Given the description of an element on the screen output the (x, y) to click on. 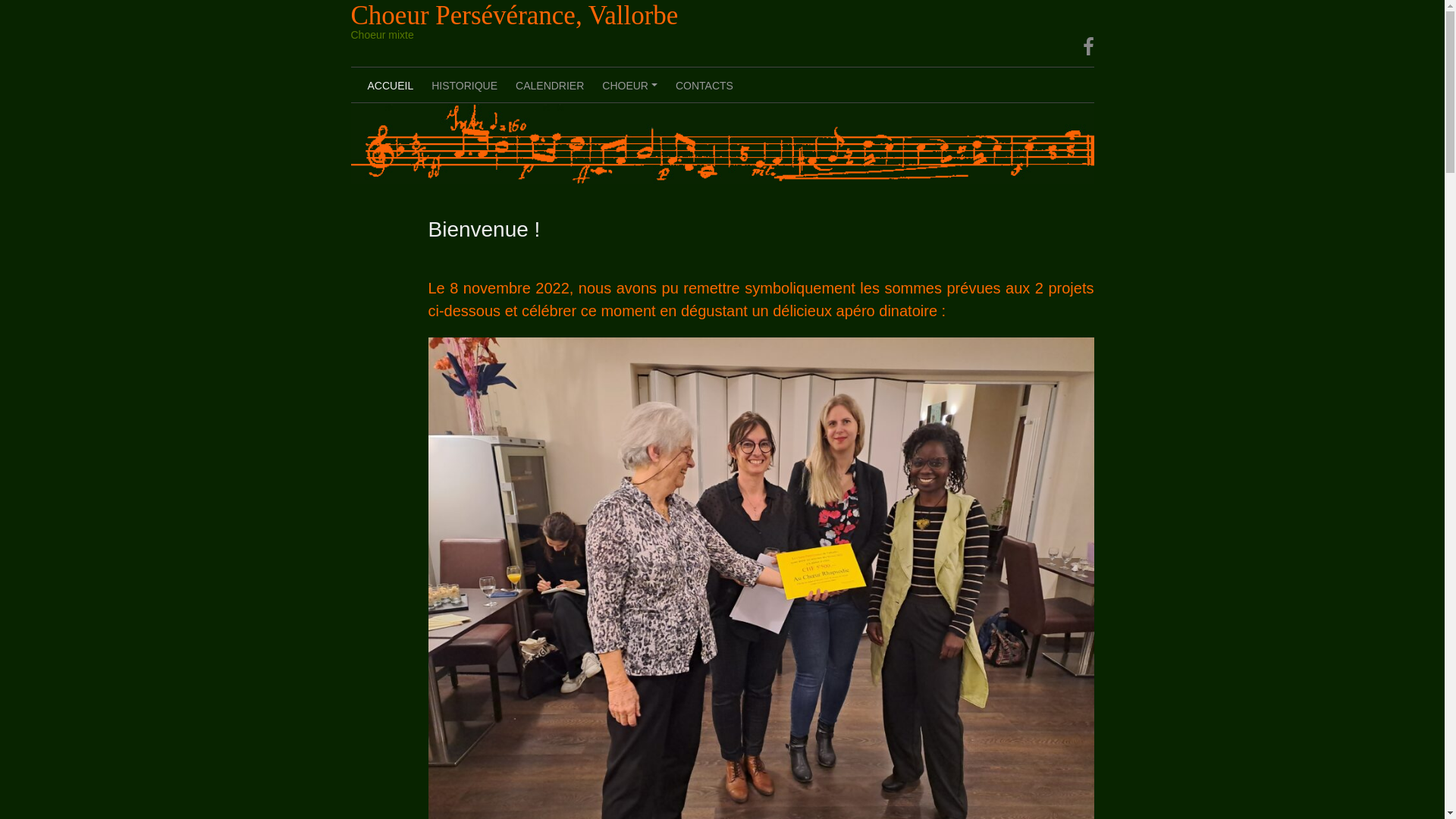
CONTACTS Element type: text (704, 84)
facebook Element type: text (1088, 47)
+
CHOEUR Element type: text (629, 84)
Skip to content Element type: text (0, 0)
HISTORIQUE Element type: text (464, 84)
ACCUEIL Element type: text (389, 84)
